Given the description of an element on the screen output the (x, y) to click on. 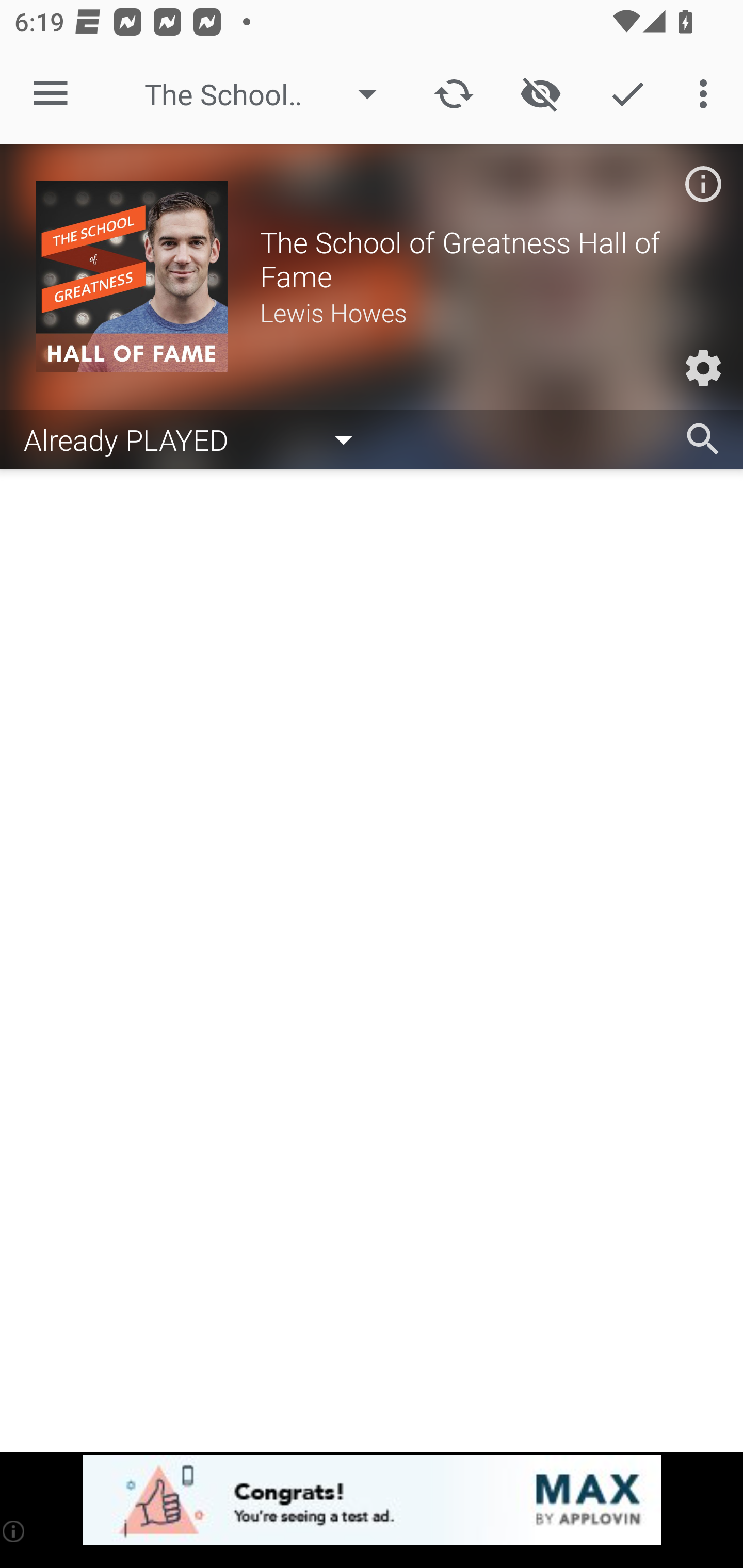
Open navigation sidebar (50, 93)
Update (453, 93)
Show / Hide played content (540, 93)
Action Mode (626, 93)
More options (706, 93)
The School of Greatness Hall of Fame (270, 94)
Podcast description (703, 184)
Lewis Howes (483, 311)
Custom Settings (703, 368)
Search (703, 439)
Already PLAYED (197, 438)
app-monetization (371, 1500)
(i) (14, 1531)
